Given the description of an element on the screen output the (x, y) to click on. 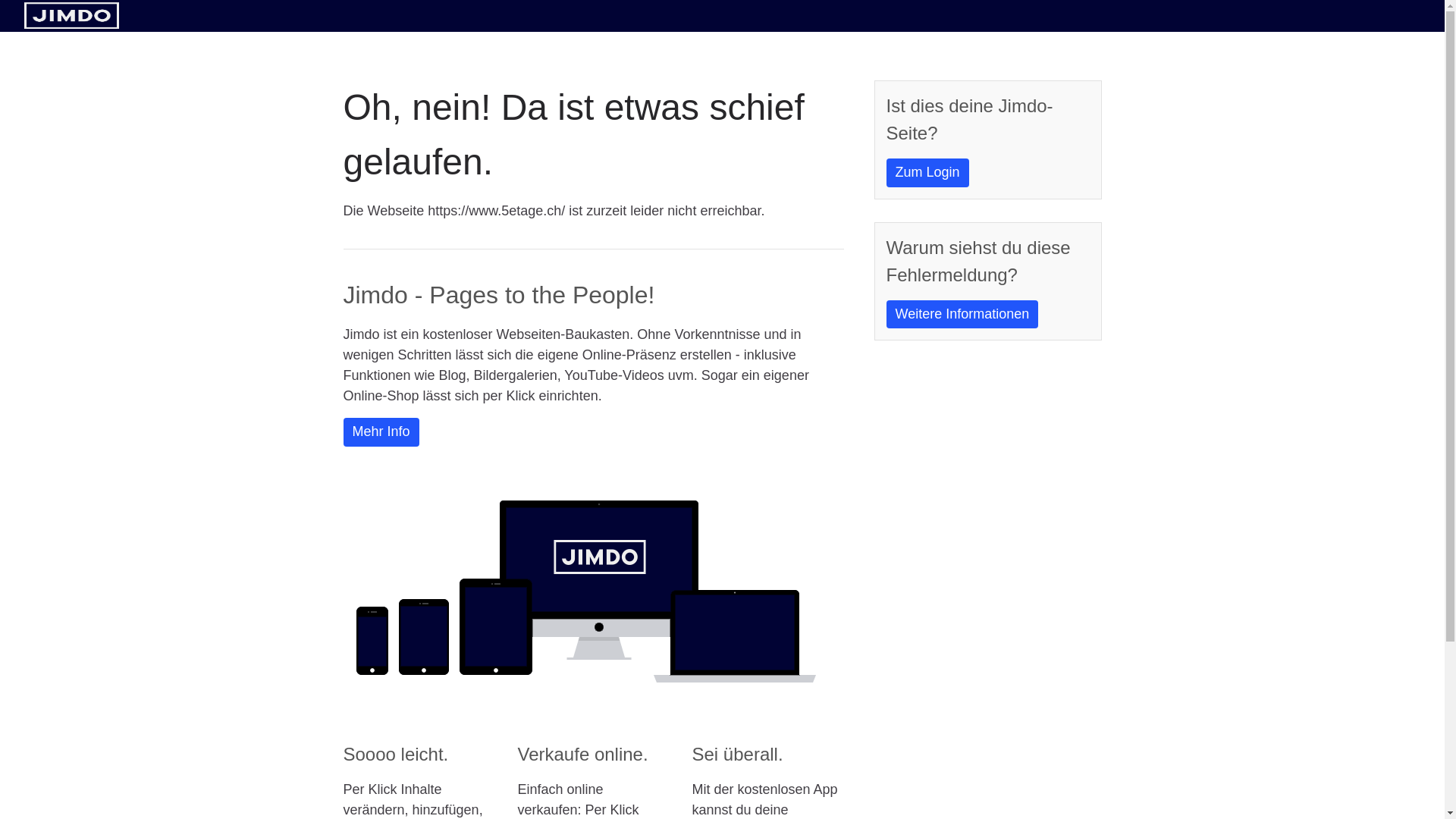
Weitere Informationen Element type: text (961, 314)
Mehr Info Element type: text (380, 431)
Zum Login Element type: text (926, 172)
